Given the description of an element on the screen output the (x, y) to click on. 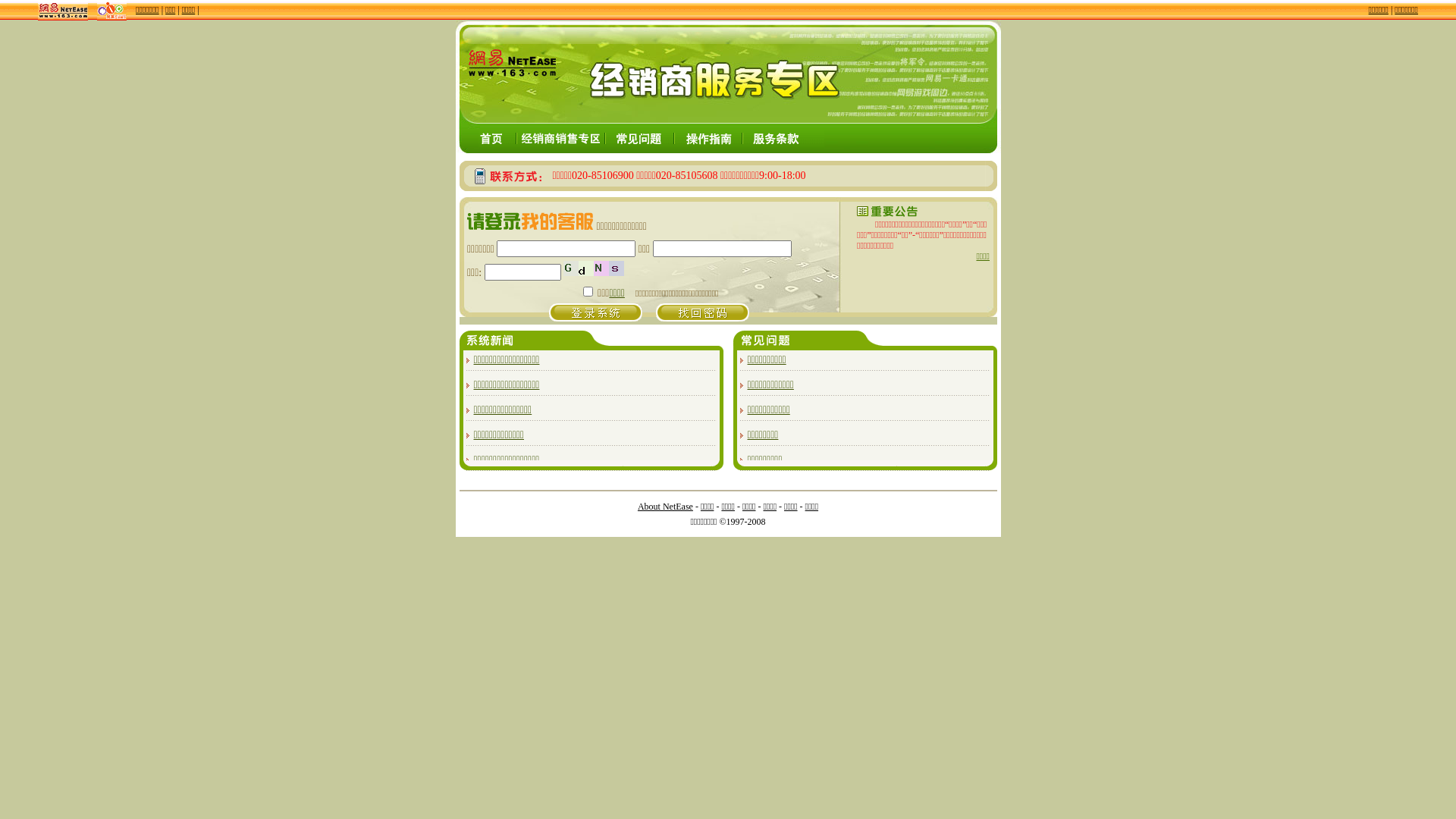
About NetEase Element type: text (665, 506)
